Given the description of an element on the screen output the (x, y) to click on. 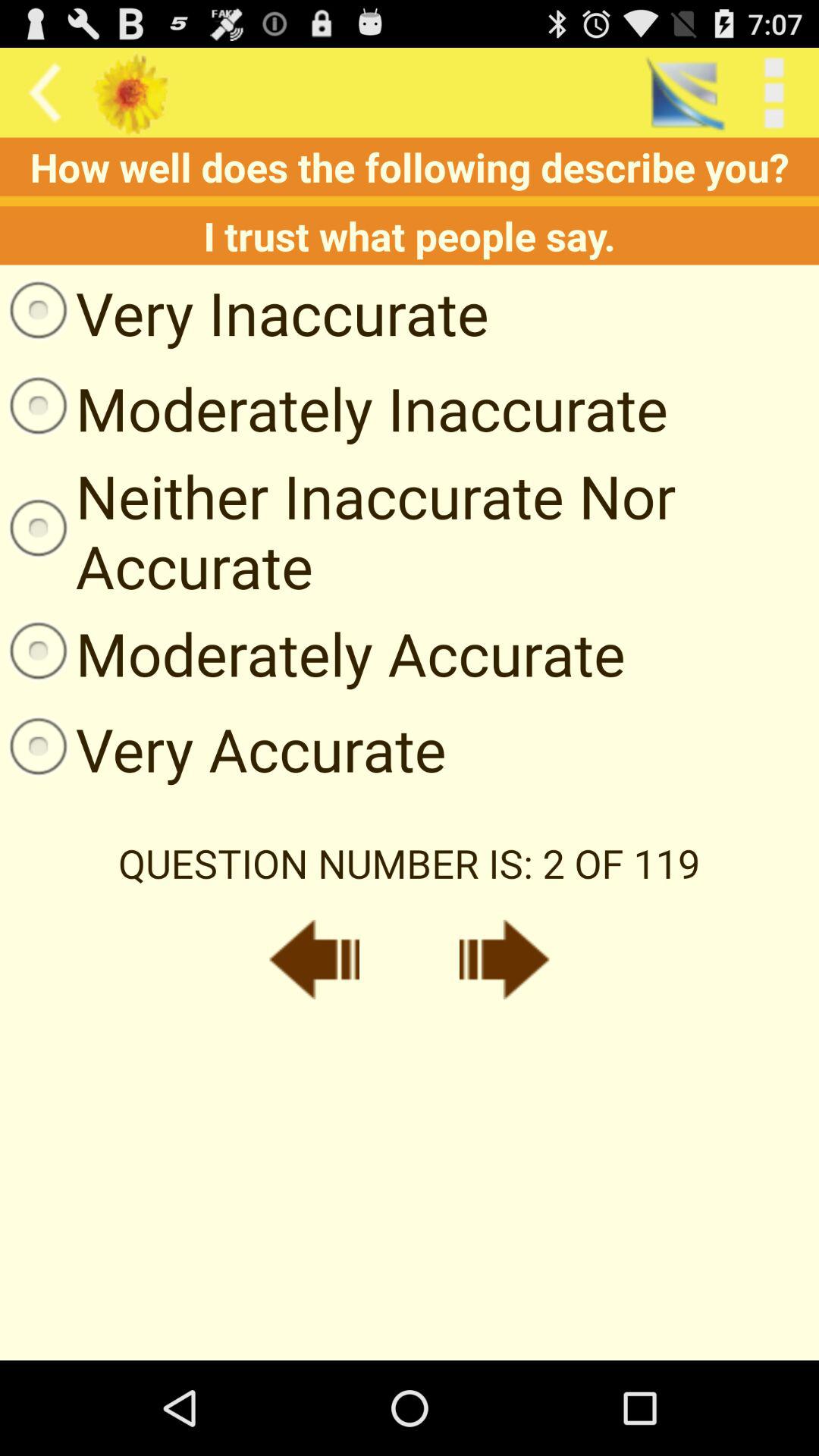
launch neither inaccurate nor (409, 530)
